Given the description of an element on the screen output the (x, y) to click on. 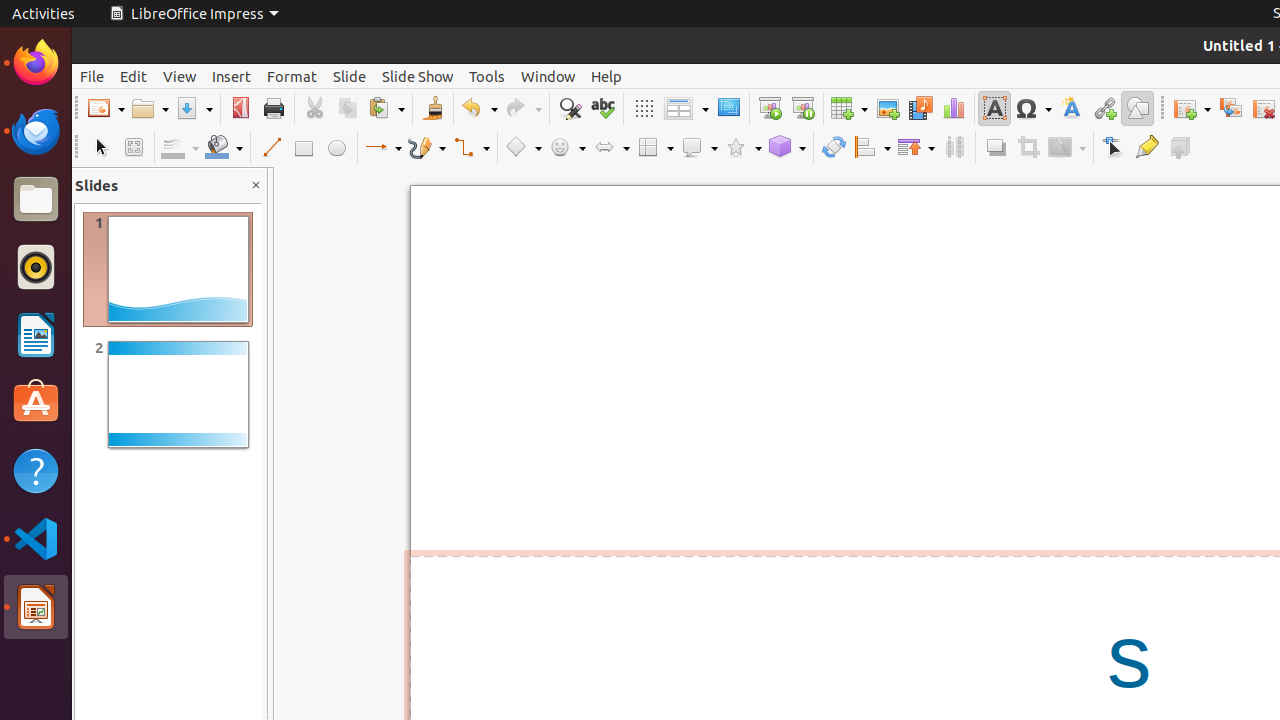
Grid Element type: toggle-button (643, 108)
Tools Element type: menu (487, 76)
Rhythmbox Element type: push-button (36, 267)
Symbol Shapes Element type: push-button (567, 147)
